Given the description of an element on the screen output the (x, y) to click on. 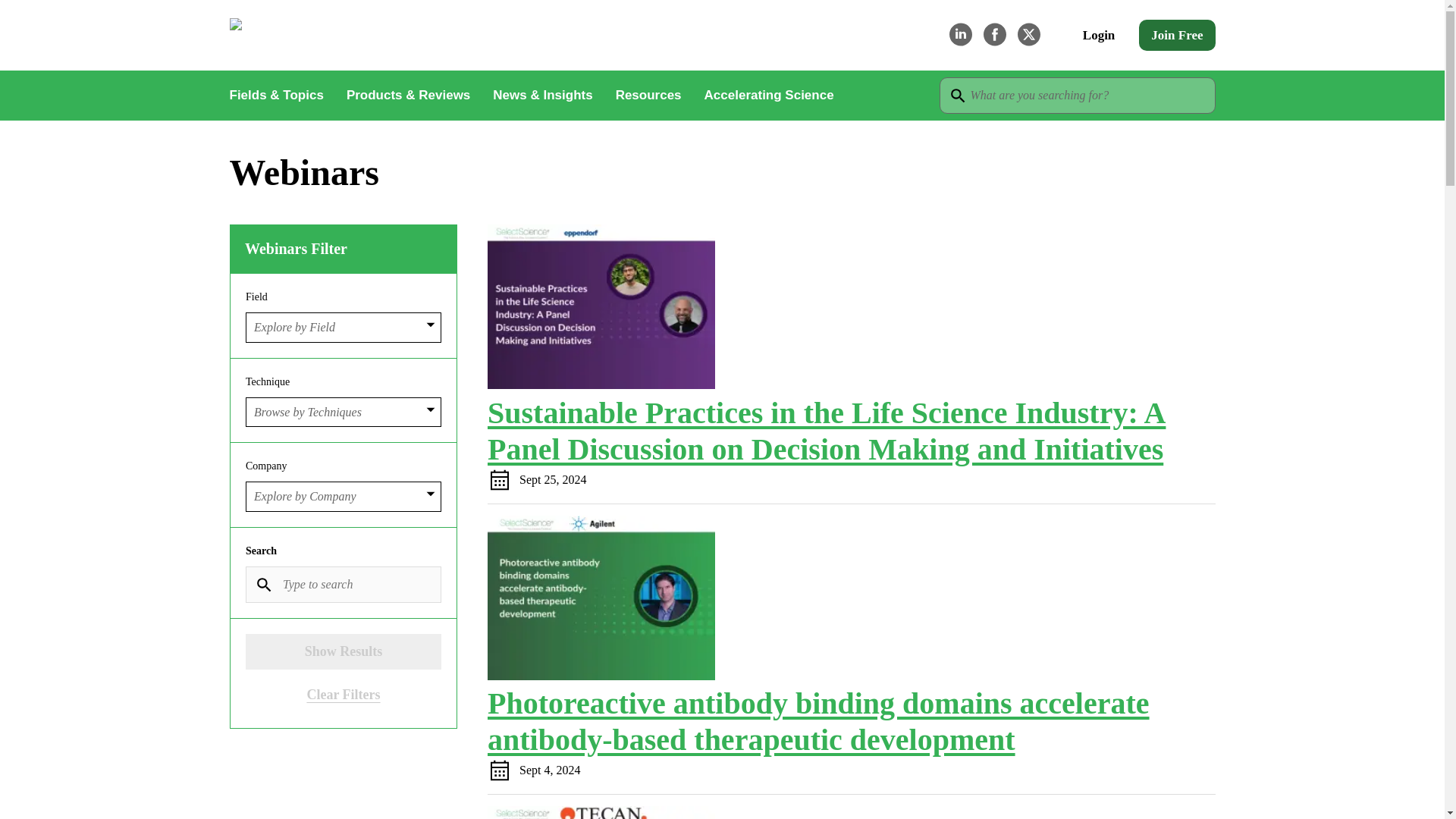
Login (1098, 35)
Join Free (1176, 35)
Show Results (343, 651)
